Given the description of an element on the screen output the (x, y) to click on. 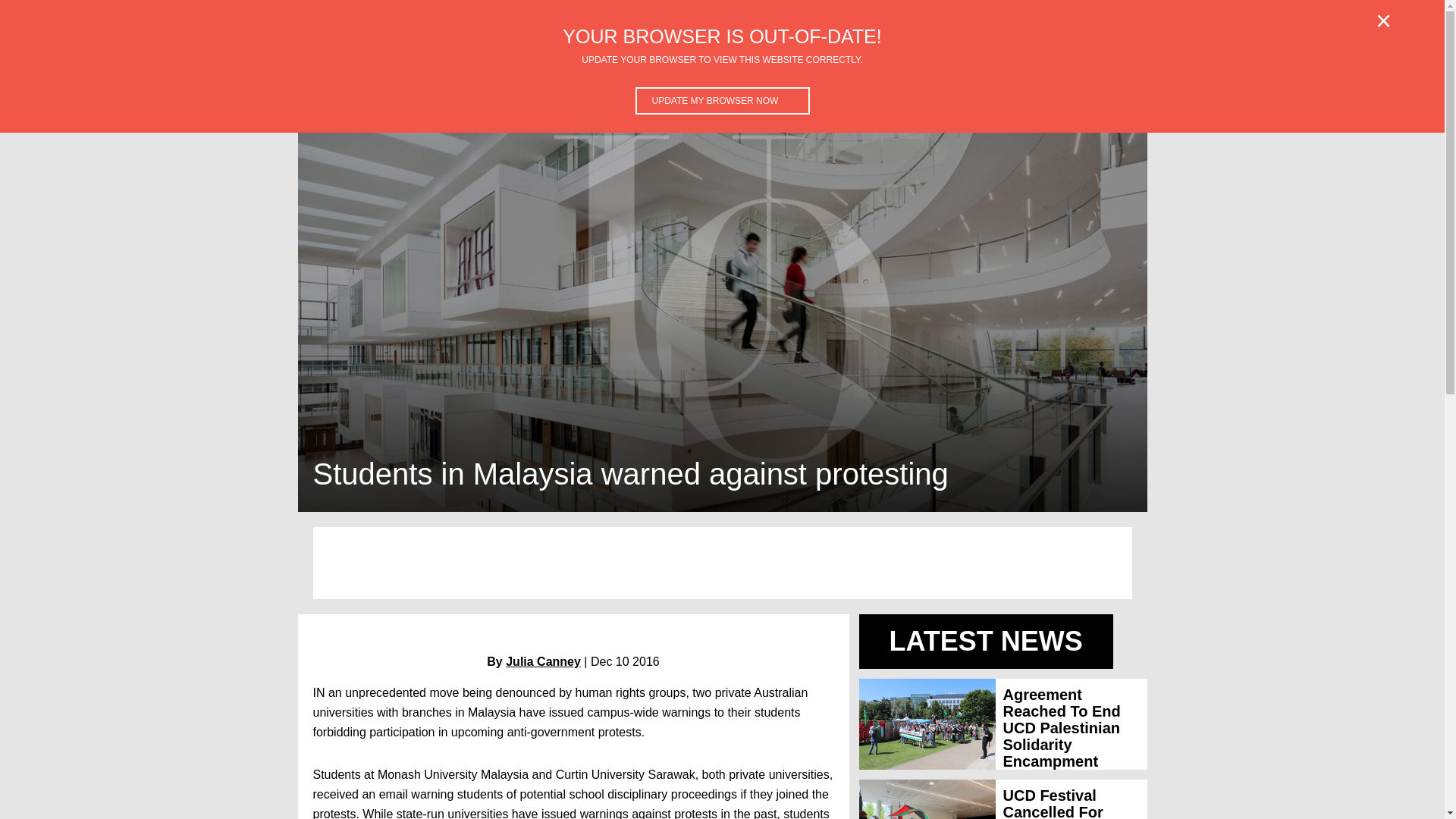
Gaeilge (725, 73)
Science (501, 73)
Advertisement (722, 562)
Advertisement (1018, 73)
Sport (667, 73)
The Harpy (848, 73)
Features (366, 73)
Columns (926, 73)
Close (1383, 21)
